Given the description of an element on the screen output the (x, y) to click on. 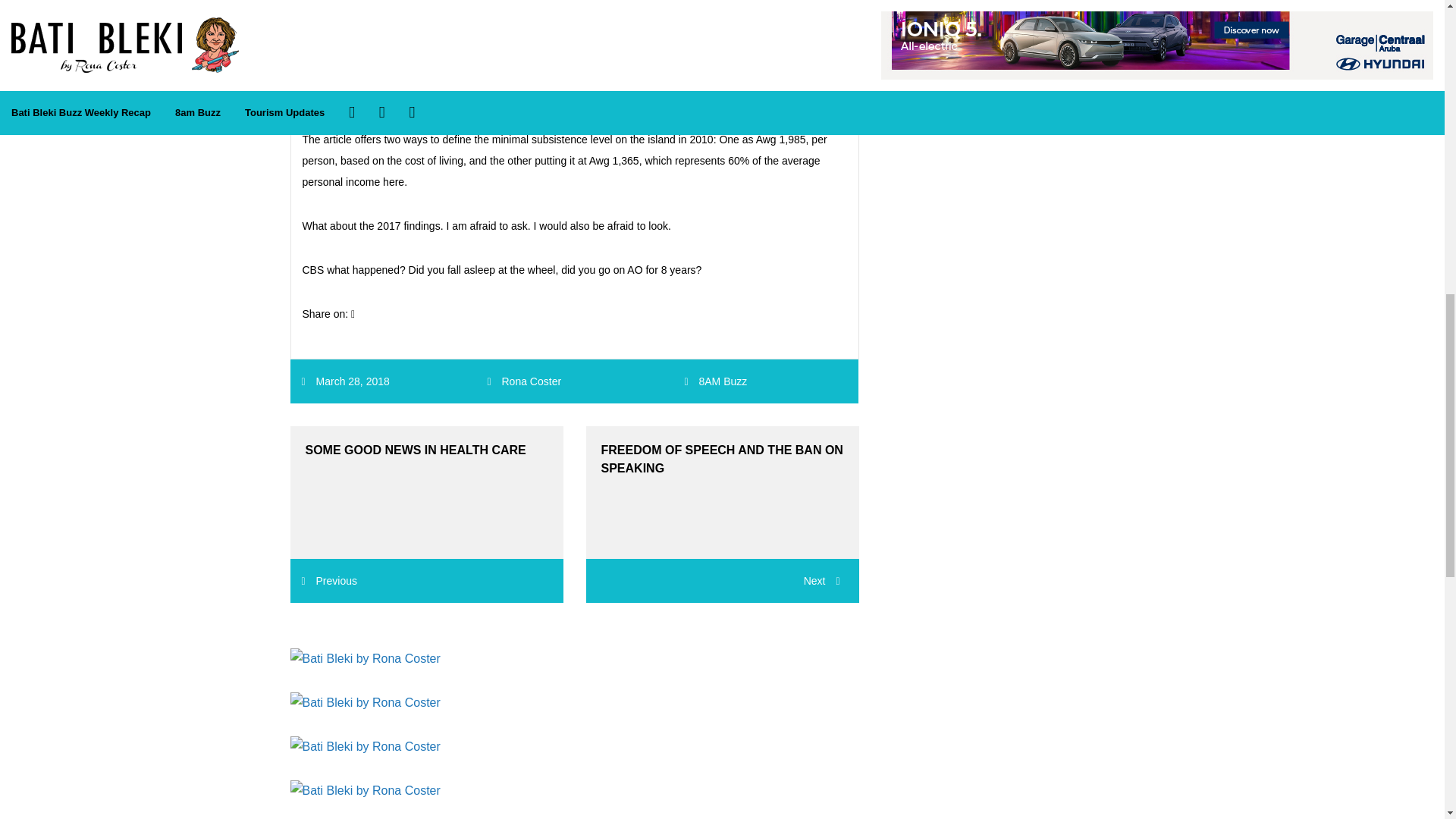
Previous (328, 580)
8AM Buzz (722, 381)
SOME GOOD NEWS IN HEALTH CARE (425, 491)
FREEDOM OF SPEECH AND THE BAN ON SPEAKING (722, 491)
Next (721, 580)
Share on: (328, 313)
